Given the description of an element on the screen output the (x, y) to click on. 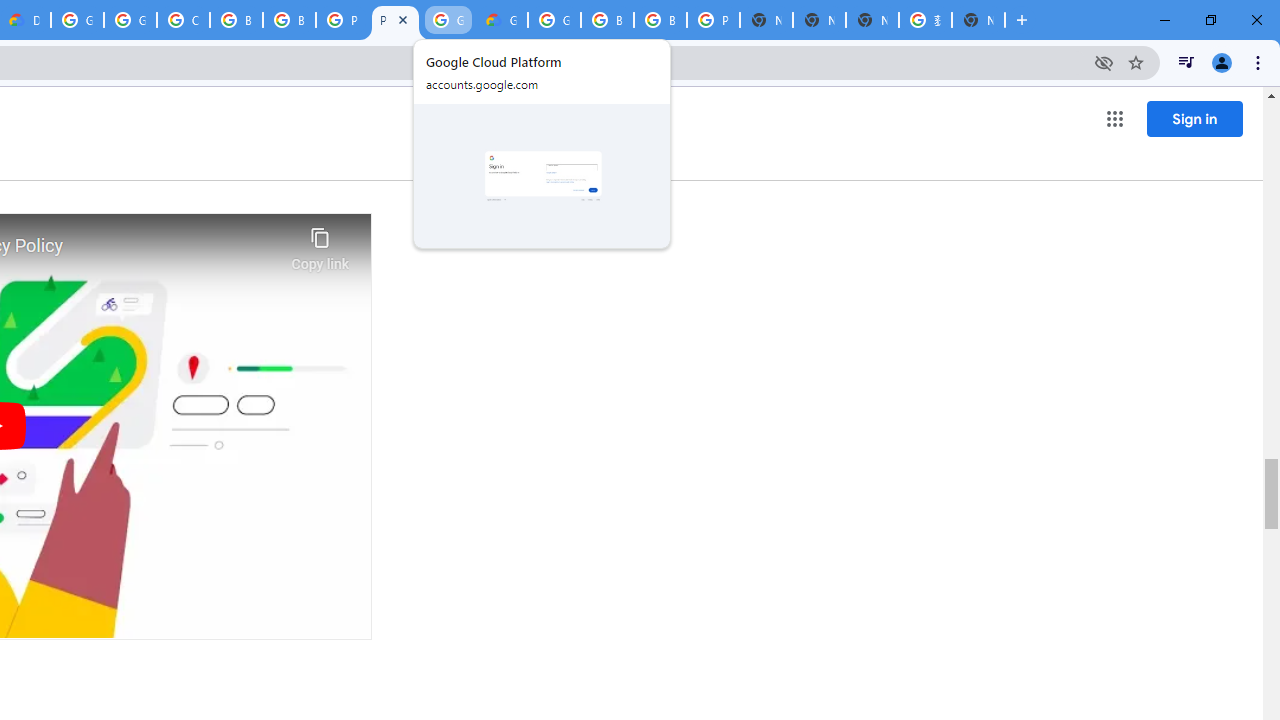
Google Cloud Platform (77, 20)
Third-party cookies blocked (1103, 62)
Browse Chrome as a guest - Computer - Google Chrome Help (235, 20)
Browse Chrome as a guest - Computer - Google Chrome Help (607, 20)
Google Cloud Platform (448, 20)
Control your music, videos, and more (1185, 62)
Google Cloud Estimate Summary (501, 20)
Browse Chrome as a guest - Computer - Google Chrome Help (289, 20)
